Given the description of an element on the screen output the (x, y) to click on. 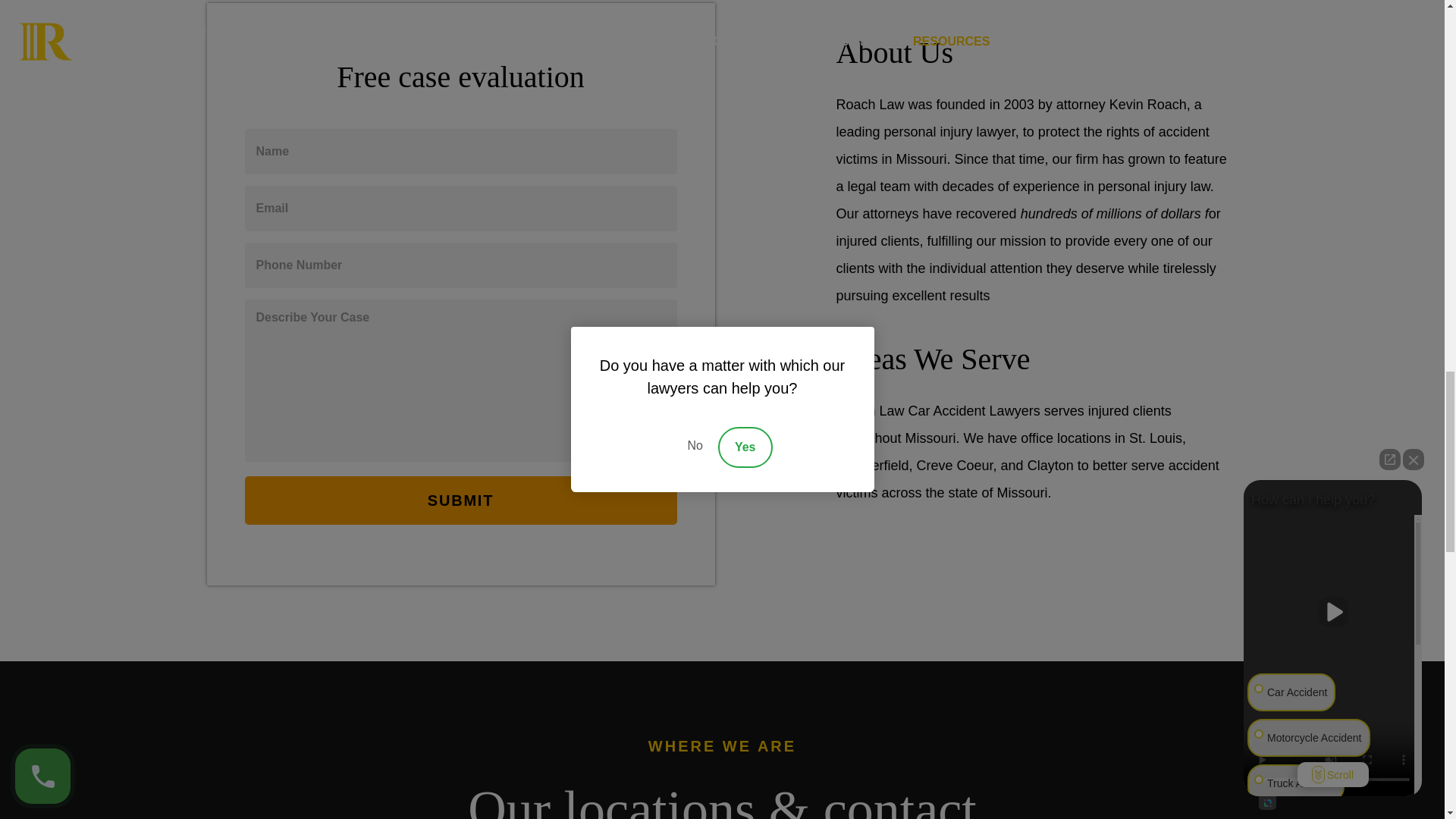
Submit (460, 499)
Submit (460, 499)
